Given the description of an element on the screen output the (x, y) to click on. 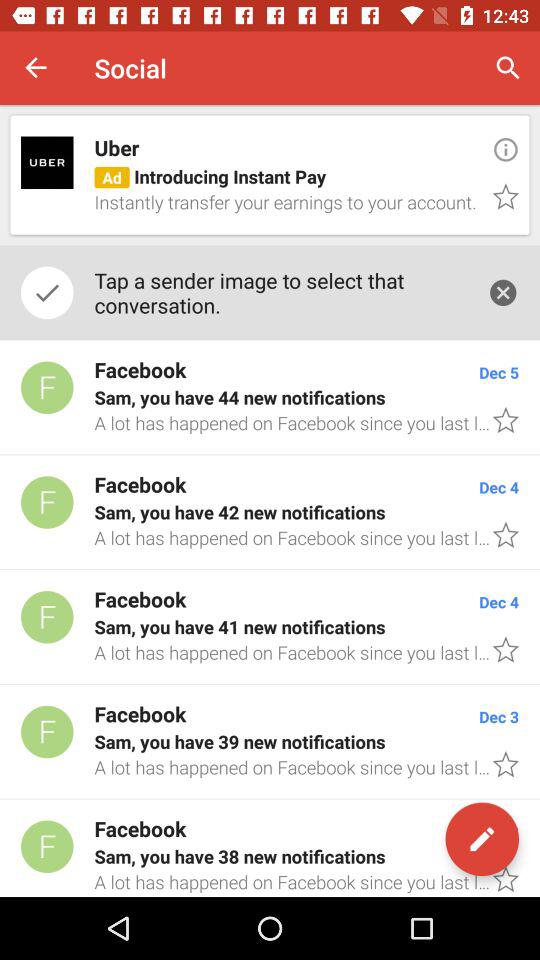
swipe until the tap a sender icon (280, 292)
